Given the description of an element on the screen output the (x, y) to click on. 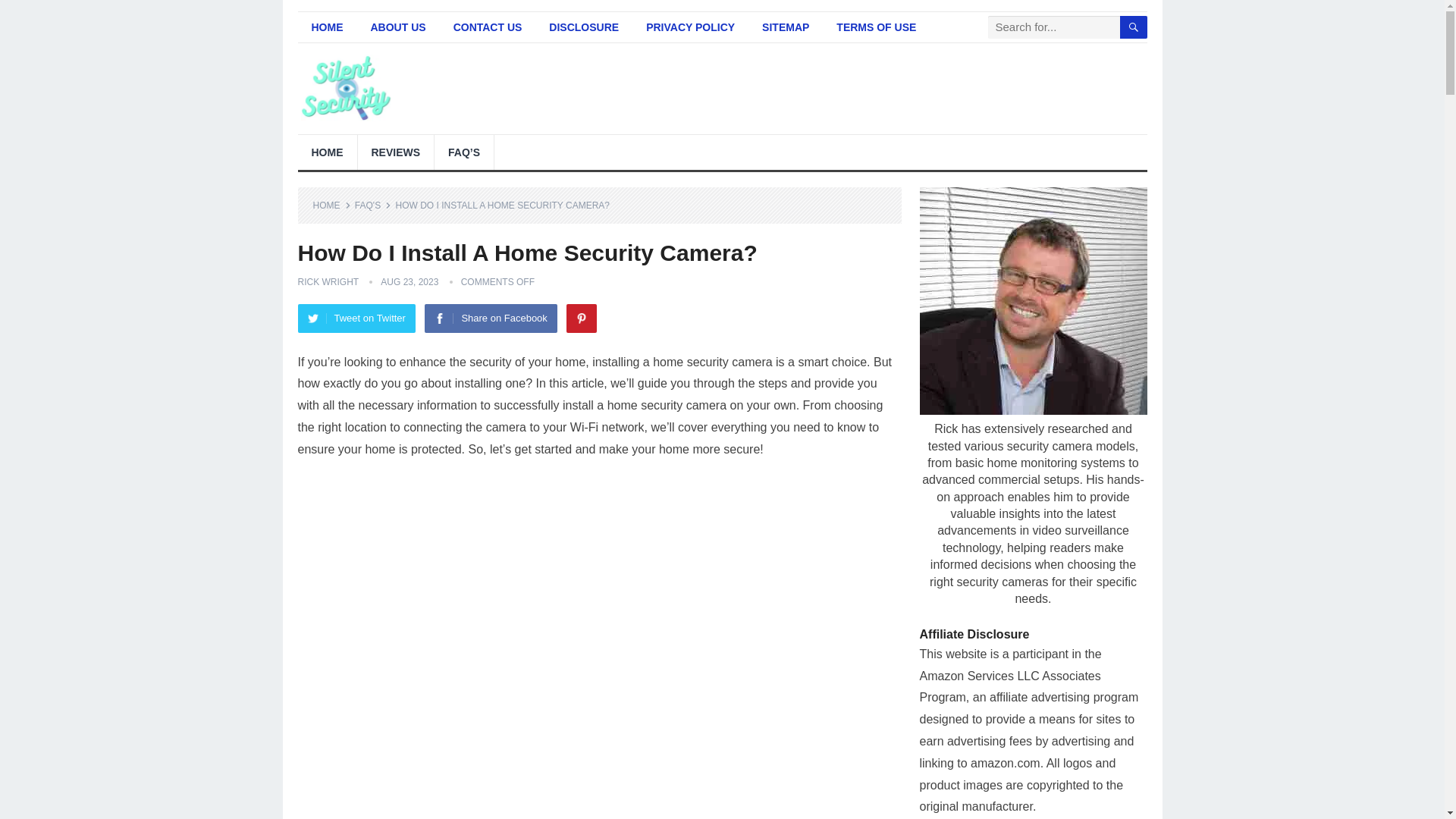
HOME (326, 152)
REVIEWS (395, 152)
DISCLOSURE (583, 27)
TERMS OF USE (876, 27)
Tweet on Twitter (355, 317)
RICK WRIGHT (327, 281)
HOME (331, 204)
PRIVACY POLICY (689, 27)
CONTACT US (487, 27)
View all posts in FAQ's (373, 204)
HOME (326, 27)
ABOUT US (397, 27)
FAQ'S (373, 204)
Pinterest (581, 317)
Posts by Rick Wright (327, 281)
